Given the description of an element on the screen output the (x, y) to click on. 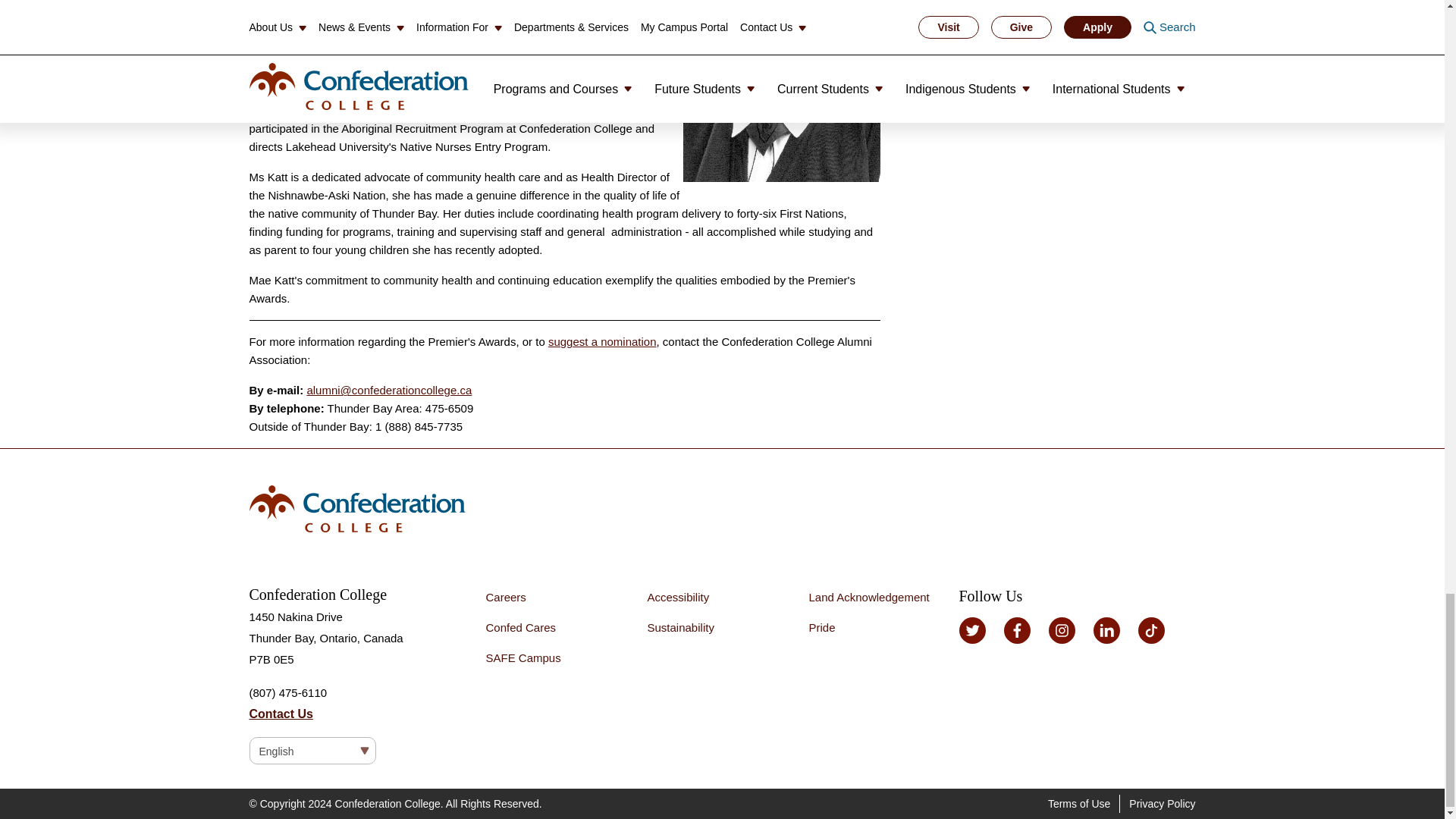
Contact Us  (280, 713)
Home (721, 508)
